Given the description of an element on the screen output the (x, y) to click on. 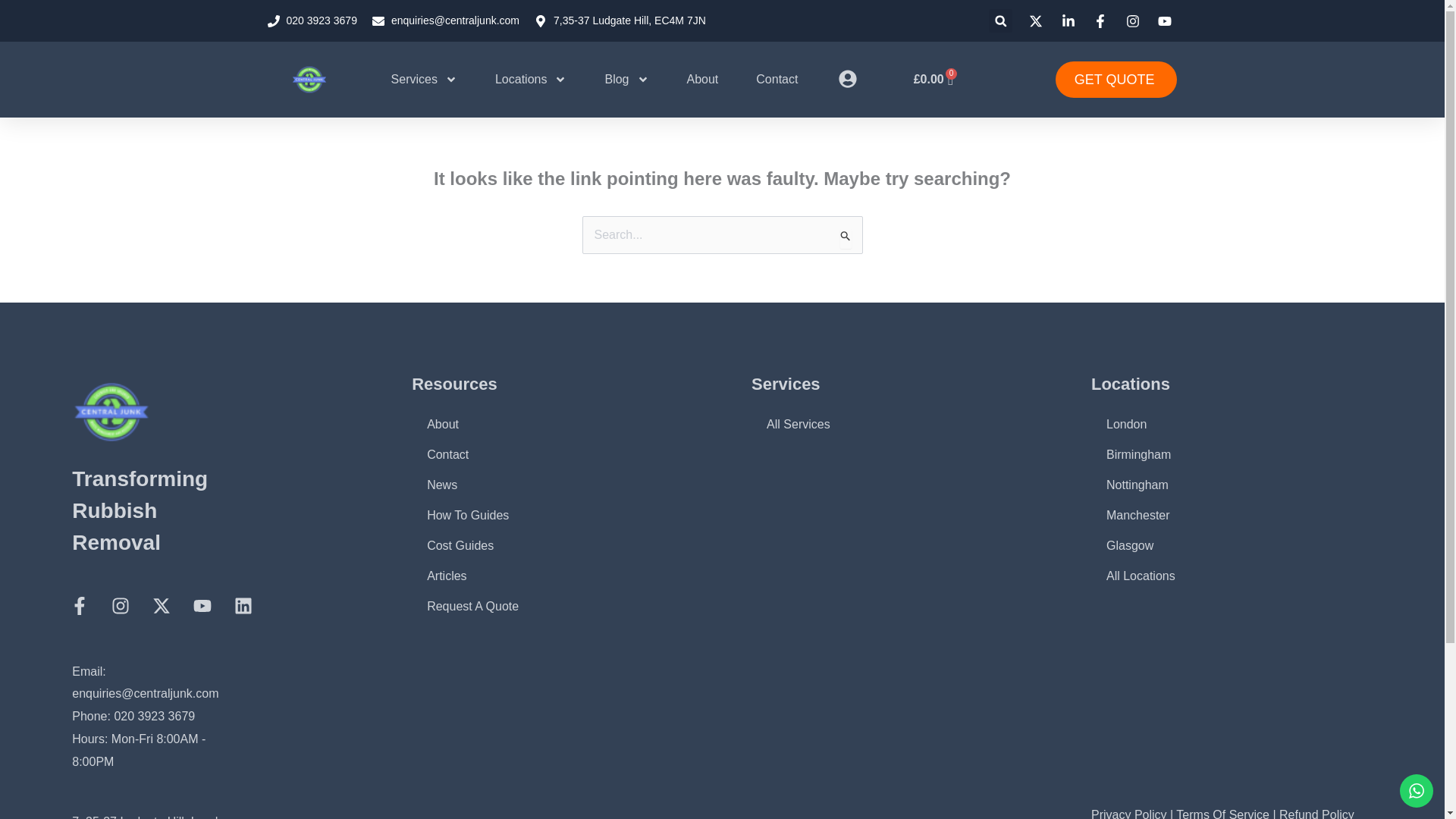
Chat with us (1415, 790)
Services (424, 79)
